Given the description of an element on the screen output the (x, y) to click on. 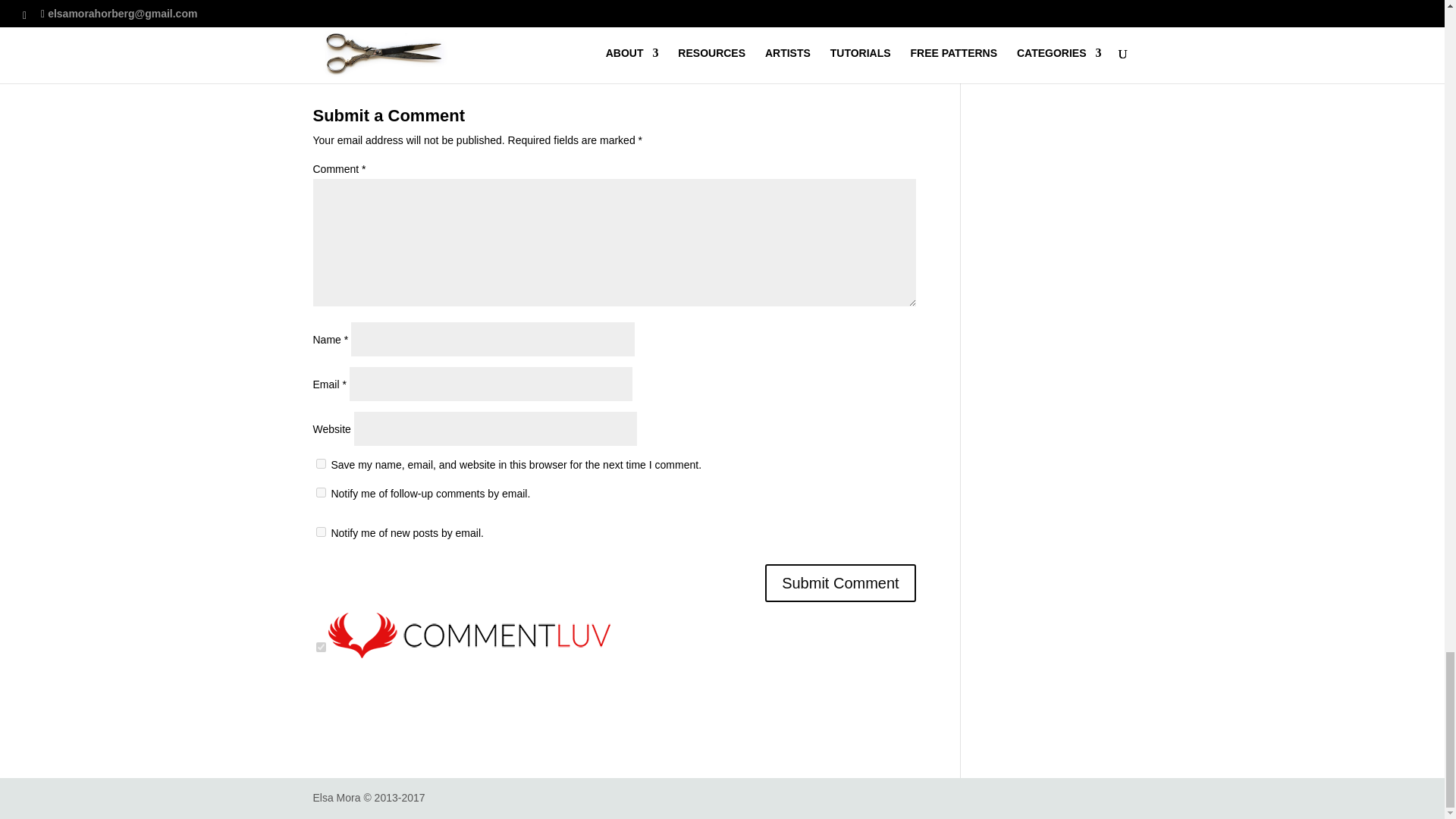
Submit Comment (840, 582)
on (319, 646)
subscribe (319, 532)
yes (319, 463)
subscribe (319, 492)
CommentLuv is enabled (468, 648)
